Given the description of an element on the screen output the (x, y) to click on. 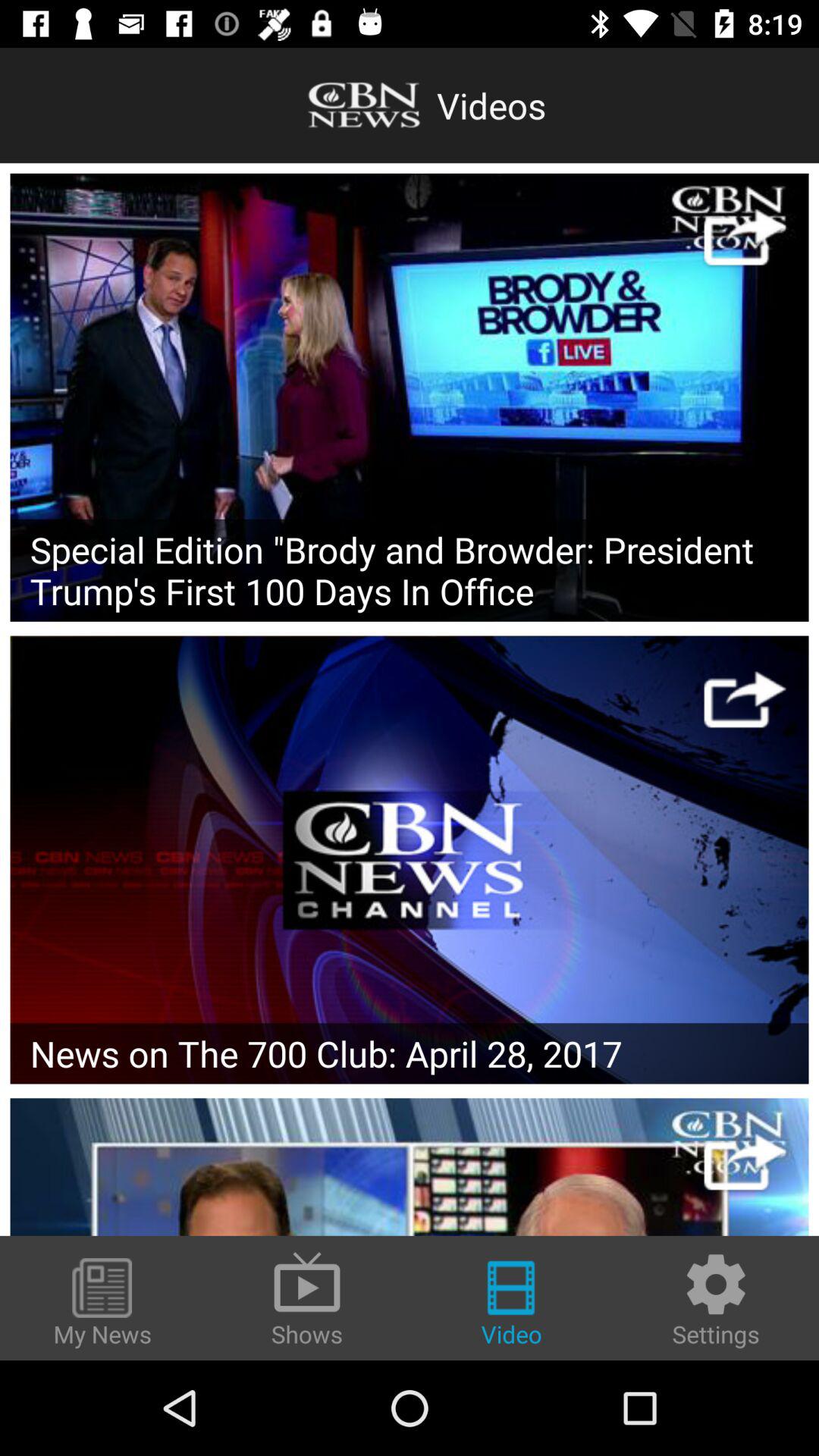
select channel (409, 1166)
